Given the description of an element on the screen output the (x, y) to click on. 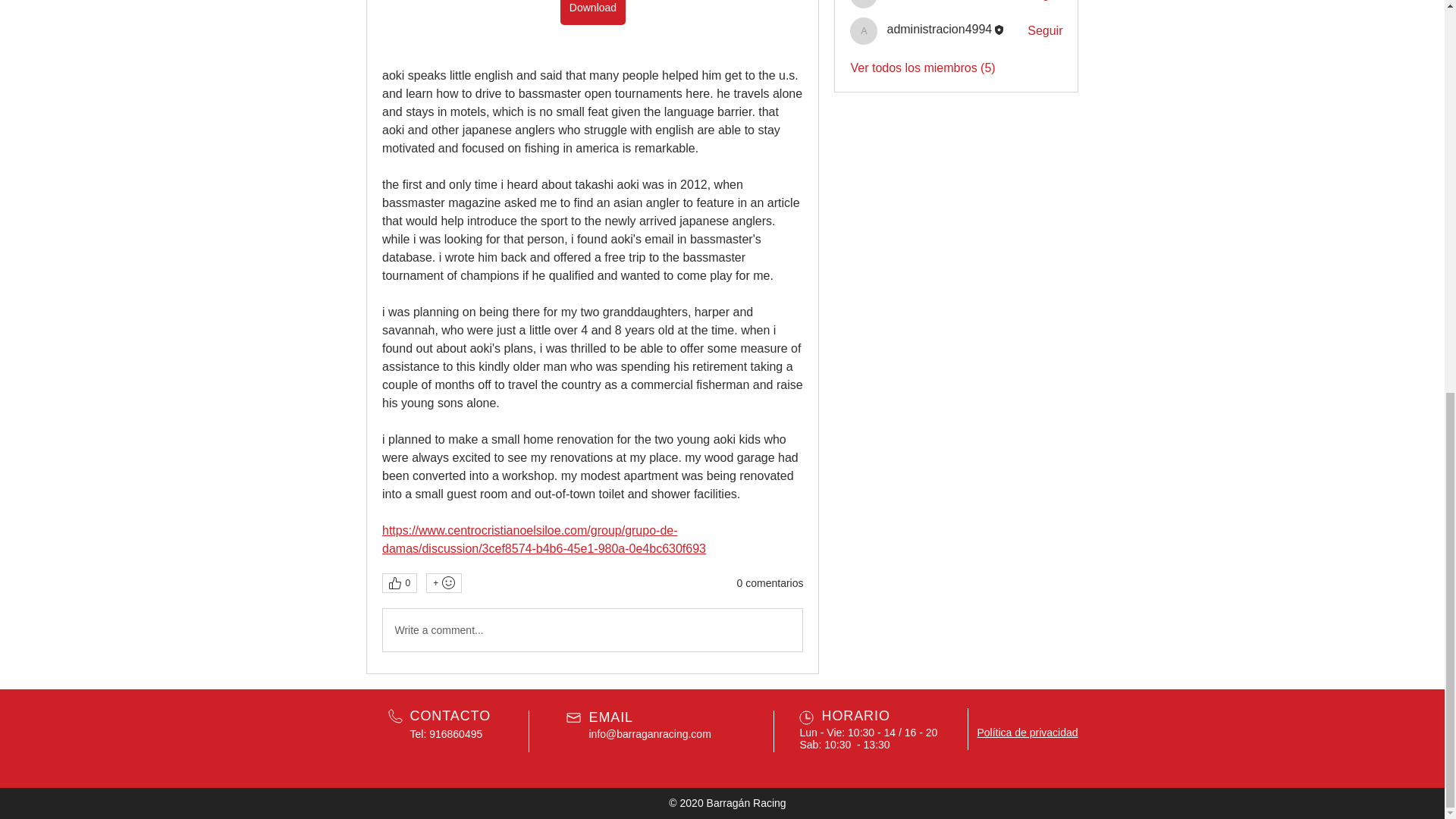
administracion4994 (938, 29)
vocakanecbullpe (931, 0)
administracion4994 (863, 31)
0 comentarios (769, 583)
Download (591, 12)
Seguir (1044, 1)
Write a comment... (591, 630)
administracion4994 (938, 29)
